Given the description of an element on the screen output the (x, y) to click on. 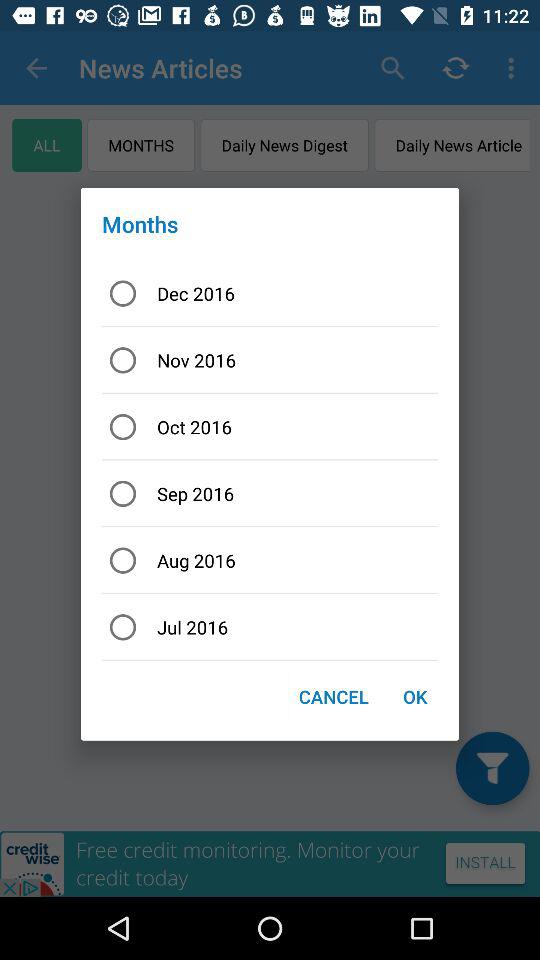
select item below nov 2016 item (269, 426)
